Given the description of an element on the screen output the (x, y) to click on. 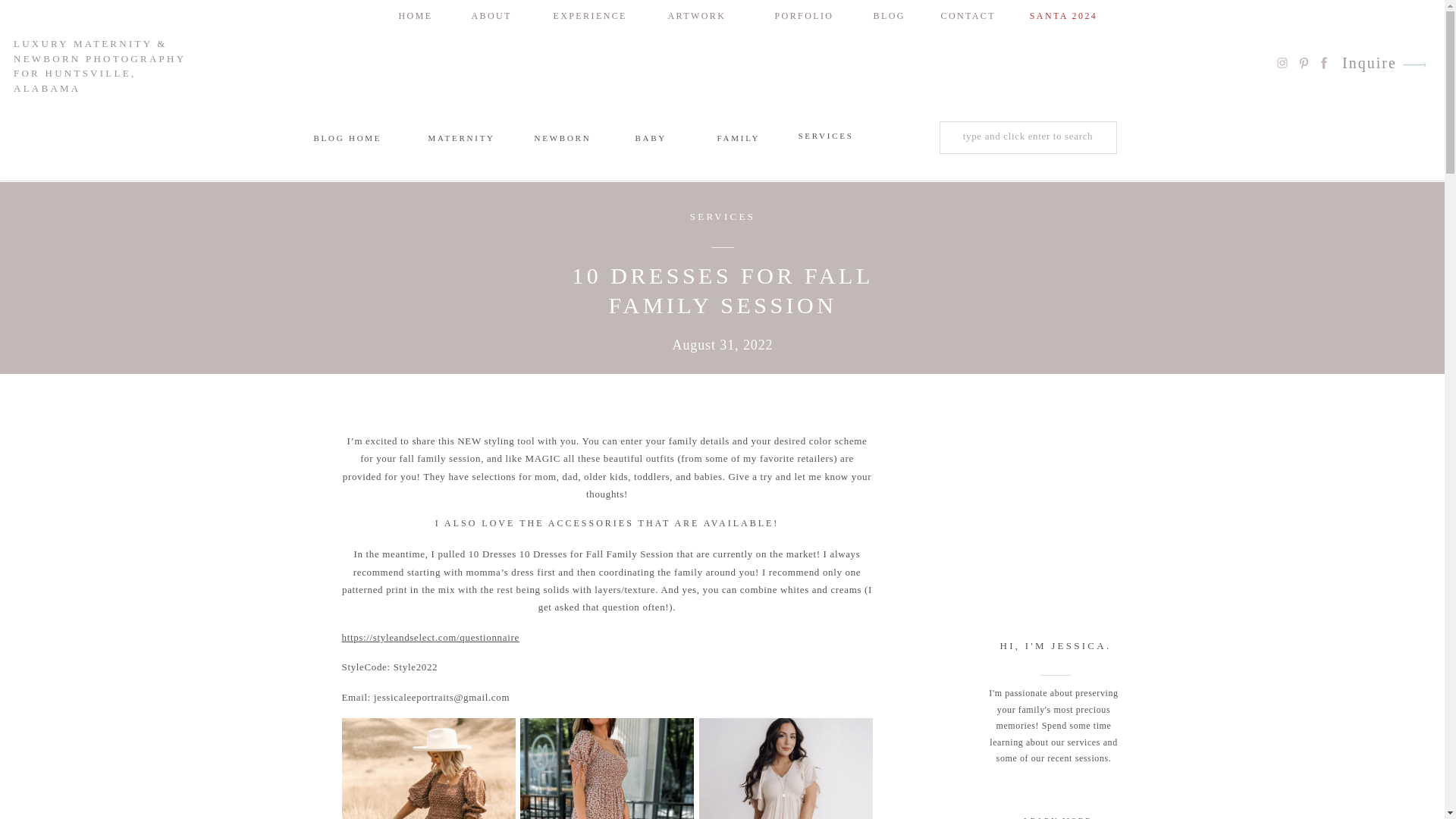
PORFOLIO (803, 15)
EXPERIENCE (580, 15)
BLOG (887, 15)
ABOUT (488, 15)
SANTA 2024 (1062, 15)
ARTWORK (694, 15)
arrow (1414, 64)
HOME (412, 15)
CONTACT (961, 15)
